Given the description of an element on the screen output the (x, y) to click on. 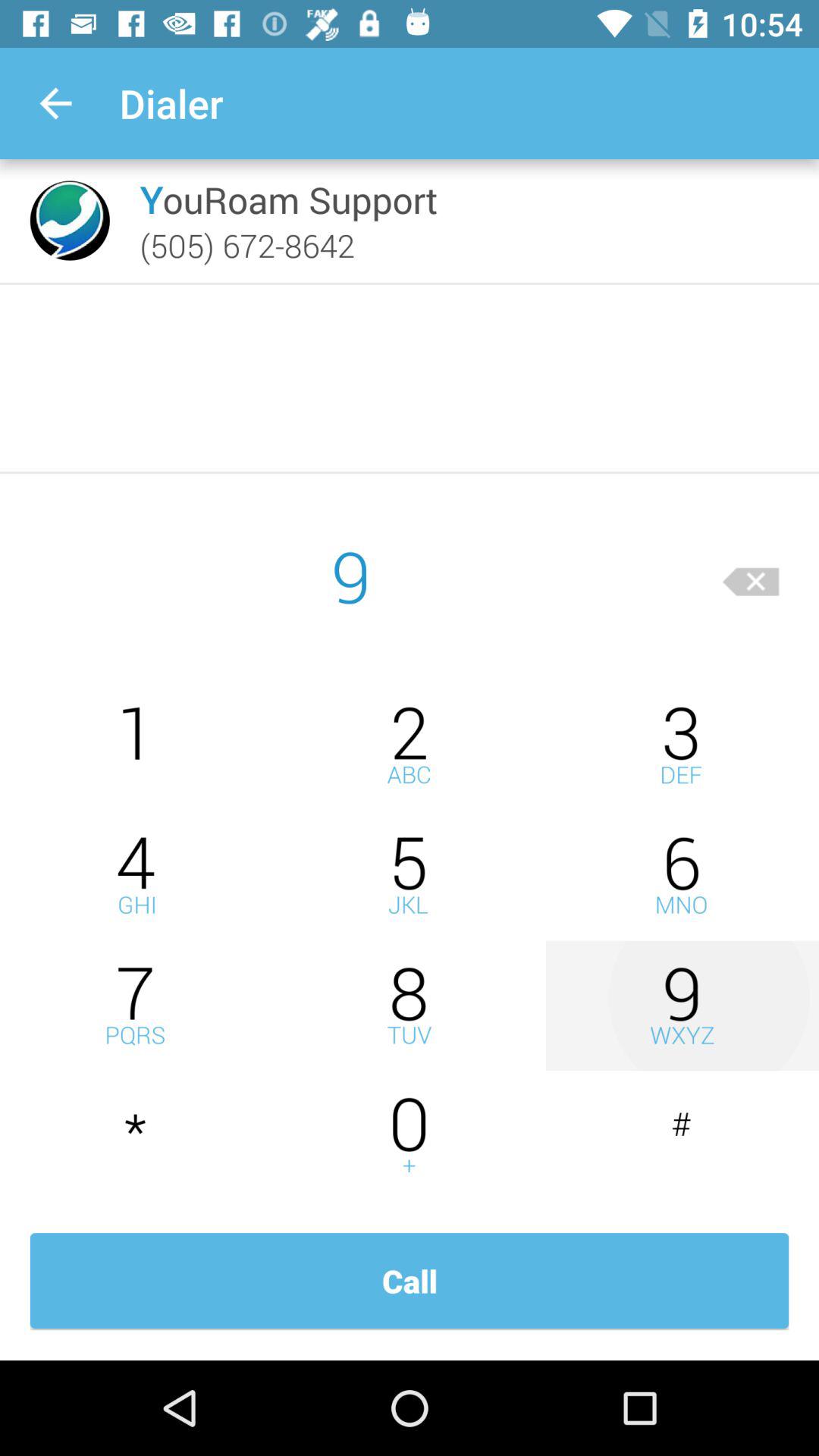
number two on keyboard (409, 745)
